Given the description of an element on the screen output the (x, y) to click on. 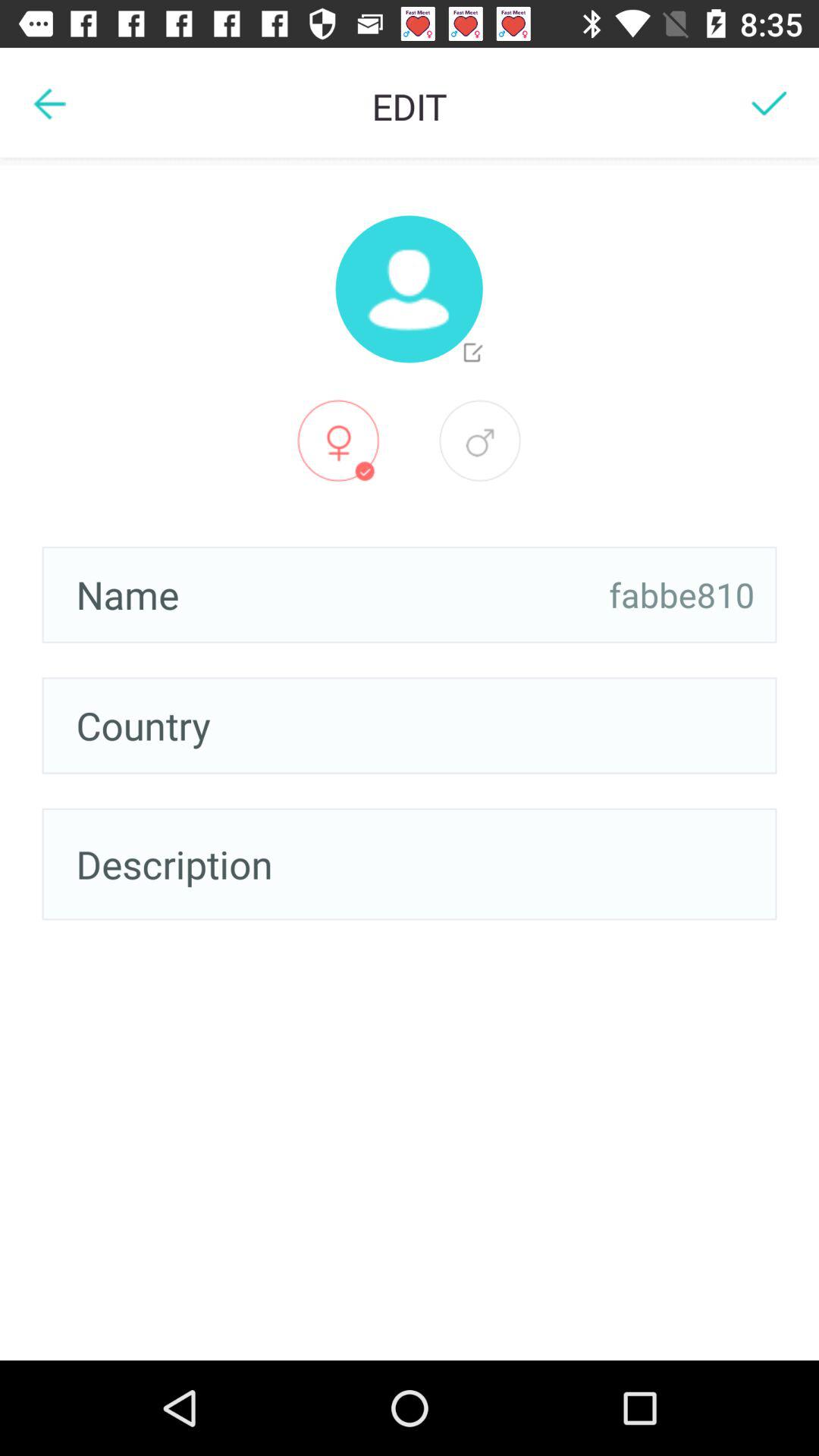
tap the icon next to the name (681, 594)
